Given the description of an element on the screen output the (x, y) to click on. 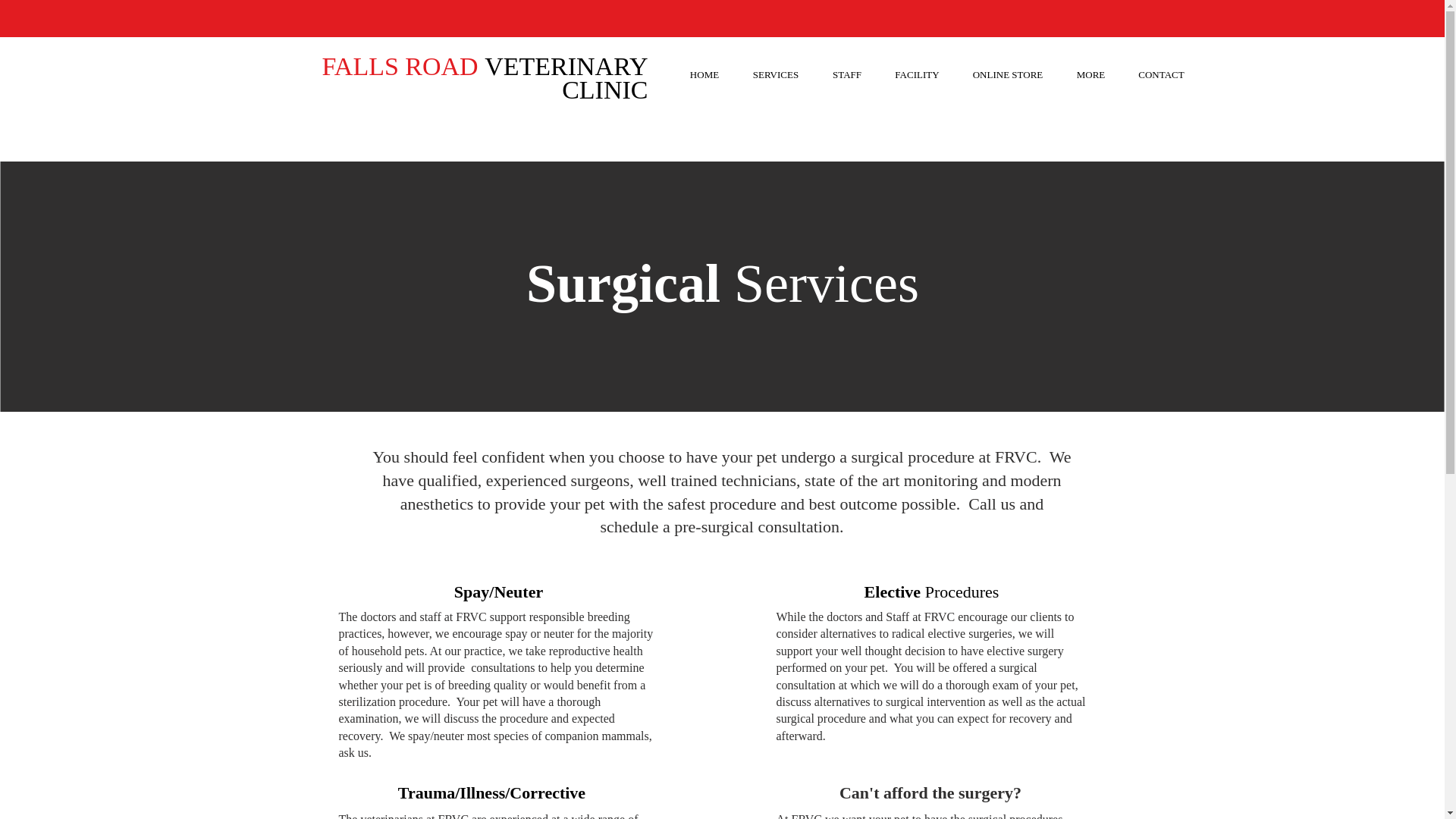
CONTACT (1161, 67)
STAFF (847, 67)
HOME (704, 67)
FACILITY (916, 67)
ONLINE STORE (1007, 67)
